Given the description of an element on the screen output the (x, y) to click on. 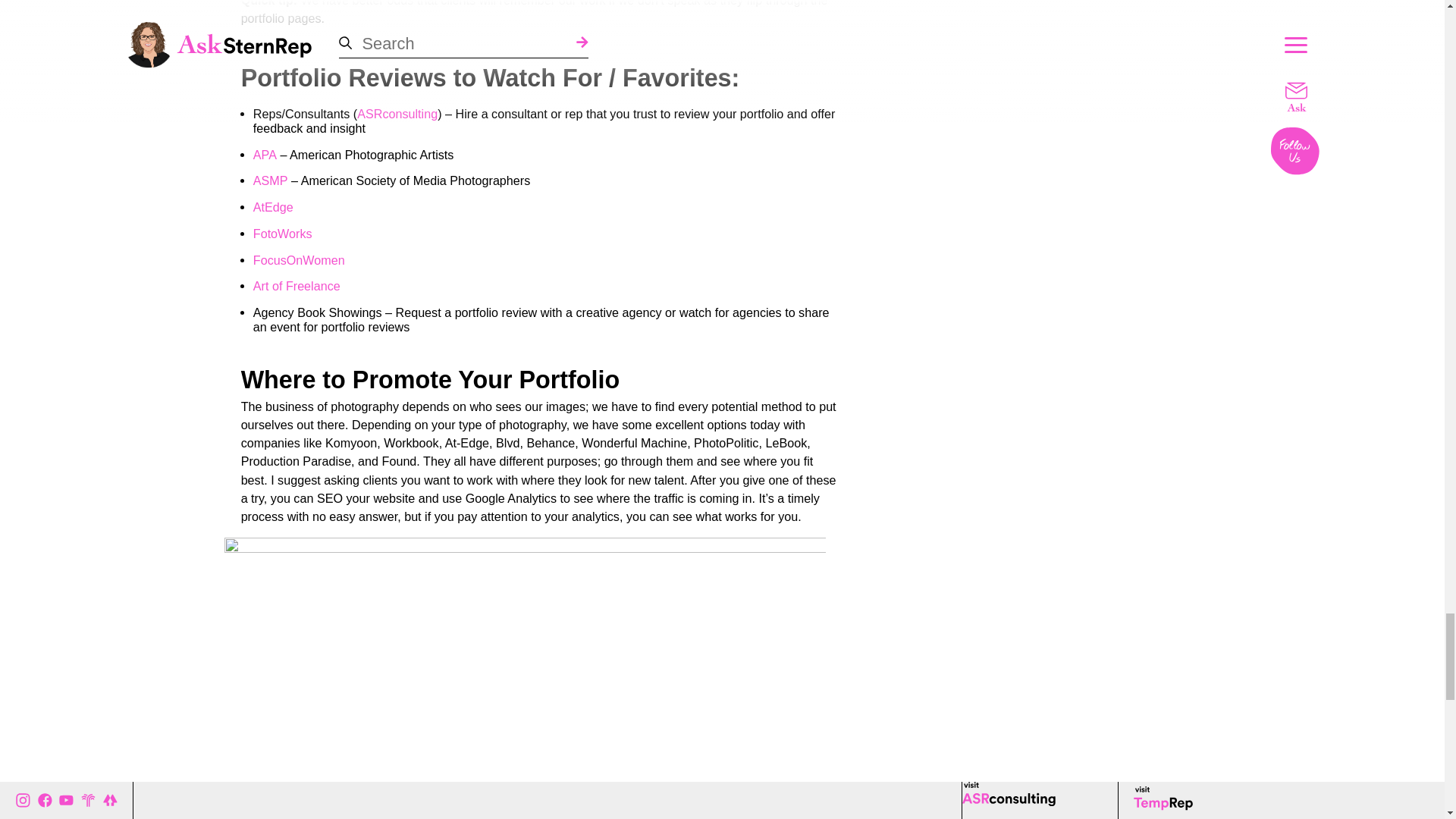
Art of Freelance (296, 286)
ASRconsulting (397, 114)
FotoWorks (283, 233)
AtEdge (273, 206)
APA (264, 155)
FocusOnWomen (299, 260)
ASMP (270, 180)
